Given the description of an element on the screen output the (x, y) to click on. 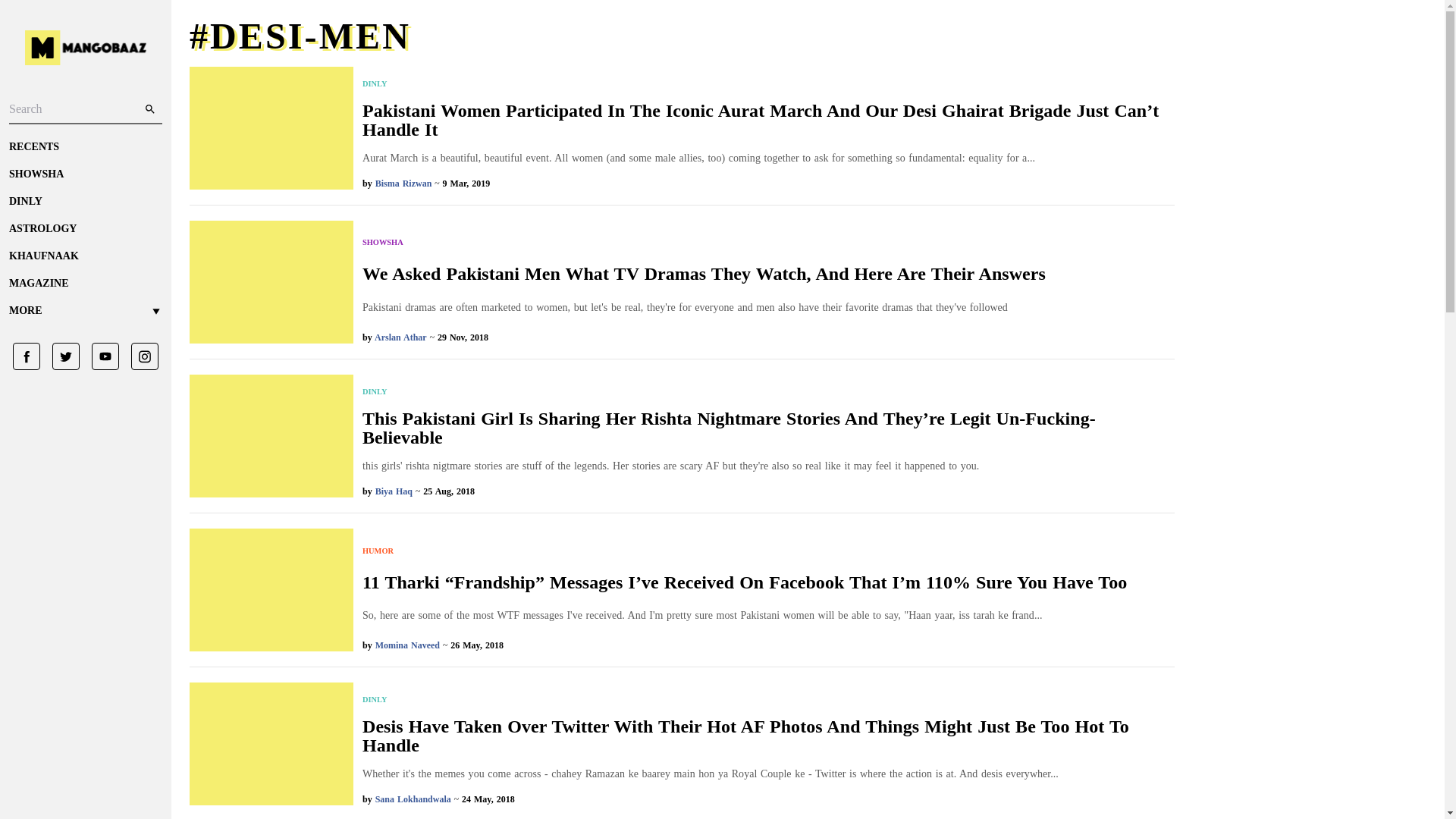
Bisma Rizwan (403, 183)
ASTROLOGY (84, 228)
SHOWSHA (703, 242)
KHAUFNAAK (84, 256)
DINLY (768, 83)
MAGAZINE (84, 283)
Link to Youtube (99, 356)
Link to Facebook (26, 356)
Link to Instagram (138, 356)
MangoBaaz Magazine (84, 283)
DINLY (768, 391)
Link to Twitter (60, 356)
RECENTS (84, 146)
MORE (84, 310)
Arslan Athar (400, 337)
